Given the description of an element on the screen output the (x, y) to click on. 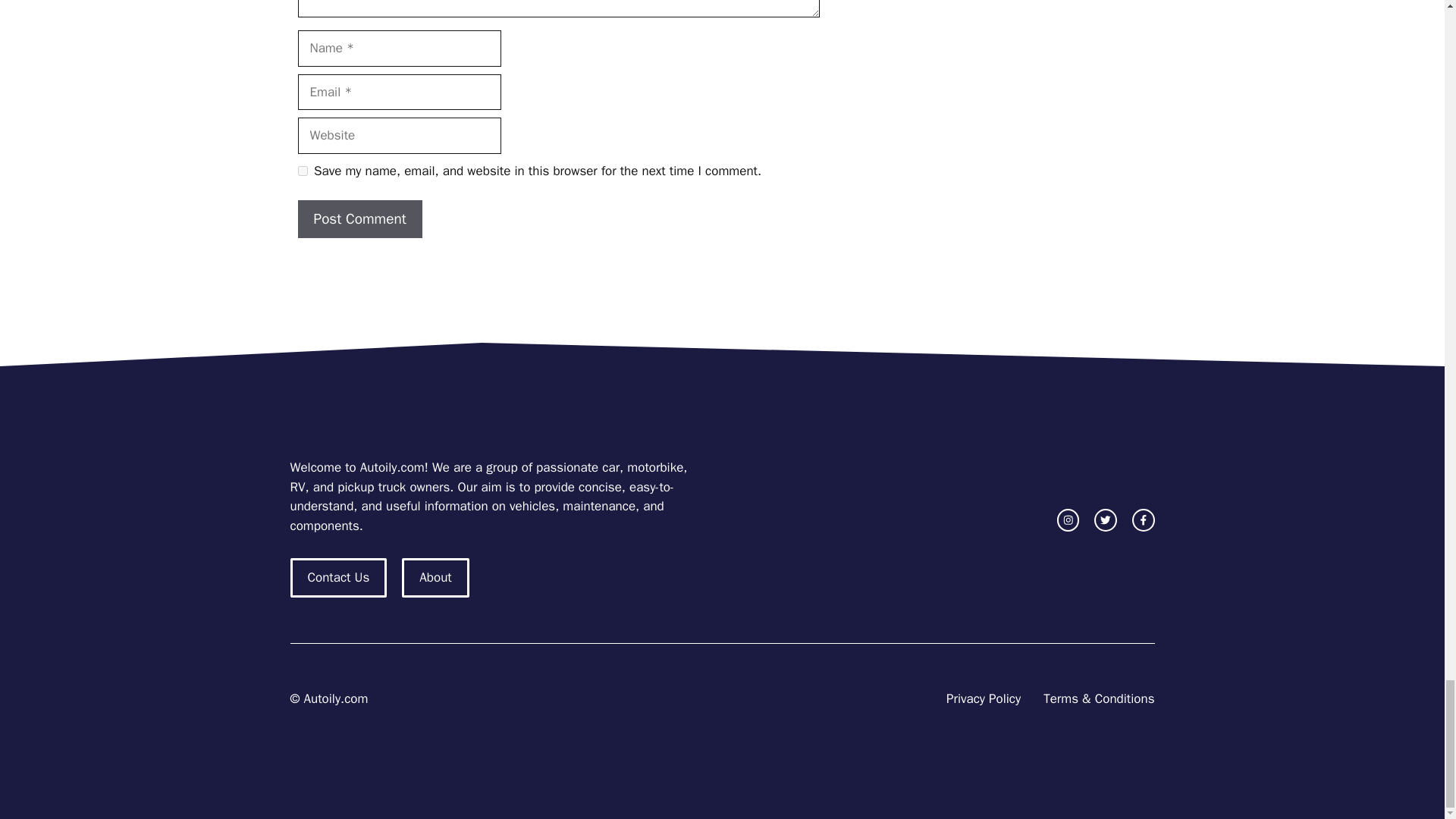
yes (302, 171)
Contact Us (338, 577)
Privacy Policy (983, 699)
Post Comment (359, 219)
Post Comment (359, 219)
About (434, 577)
